Given the description of an element on the screen output the (x, y) to click on. 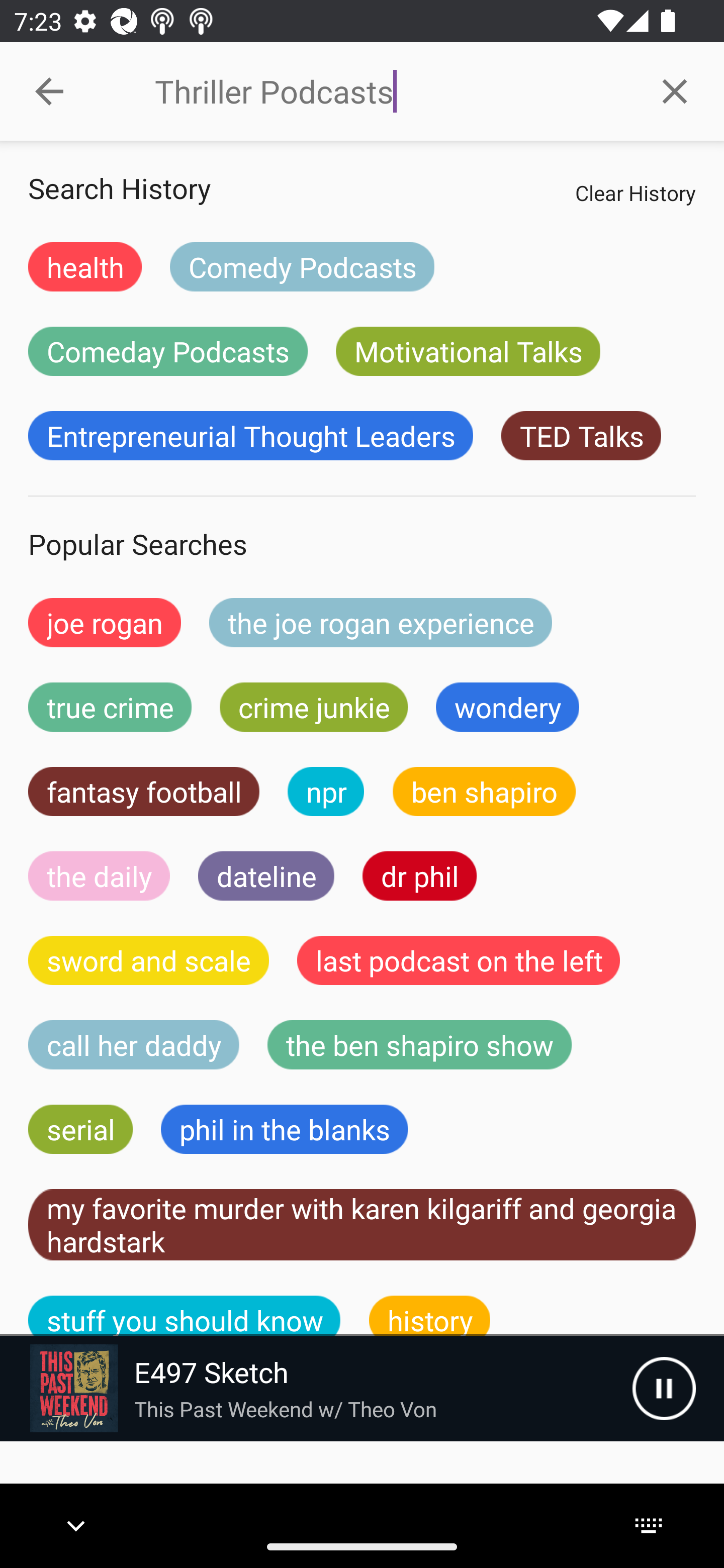
Collapse (49, 91)
Clear query (674, 90)
Thriller Podcasts (389, 91)
Clear History (634, 192)
health (84, 266)
Comedy Podcasts (302, 266)
Comeday Podcasts (167, 351)
Motivational Talks (467, 351)
Entrepreneurial Thought Leaders (250, 435)
TED Talks (581, 435)
joe rogan (104, 622)
the joe rogan experience (380, 622)
true crime (109, 707)
crime junkie (313, 707)
wondery (507, 707)
fantasy football (143, 791)
npr (325, 791)
ben shapiro (483, 791)
the daily (99, 875)
dateline (266, 875)
dr phil (419, 875)
sword and scale (148, 960)
last podcast on the left (458, 960)
call her daddy (133, 1044)
the ben shapiro show (419, 1044)
serial (80, 1128)
phil in the blanks (283, 1128)
stuff you should know (184, 1315)
history (429, 1315)
Picture E497 Sketch This Past Weekend w/ Theo Von (316, 1388)
Pause (663, 1388)
